Given the description of an element on the screen output the (x, y) to click on. 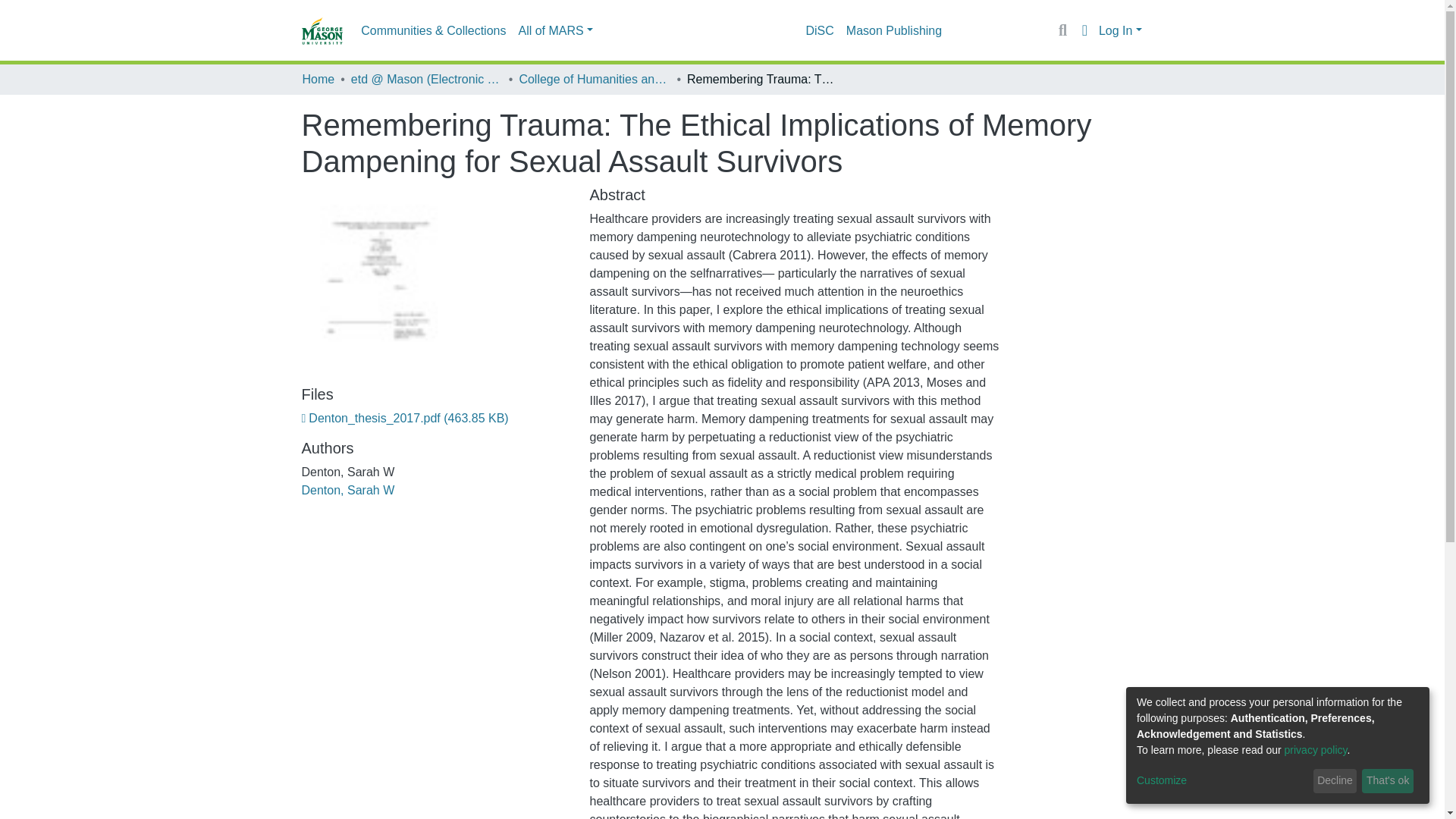
DiSC (819, 30)
Home (317, 79)
College of Humanities and Social Sciences (593, 79)
privacy policy (1316, 749)
Mason Publishing (893, 30)
Log In (1119, 30)
Decline (1334, 781)
Customize (1222, 780)
All of MARS (555, 30)
Denton, Sarah W (347, 490)
Search (1061, 30)
Language switch (1084, 30)
That's ok (1387, 781)
